Given the description of an element on the screen output the (x, y) to click on. 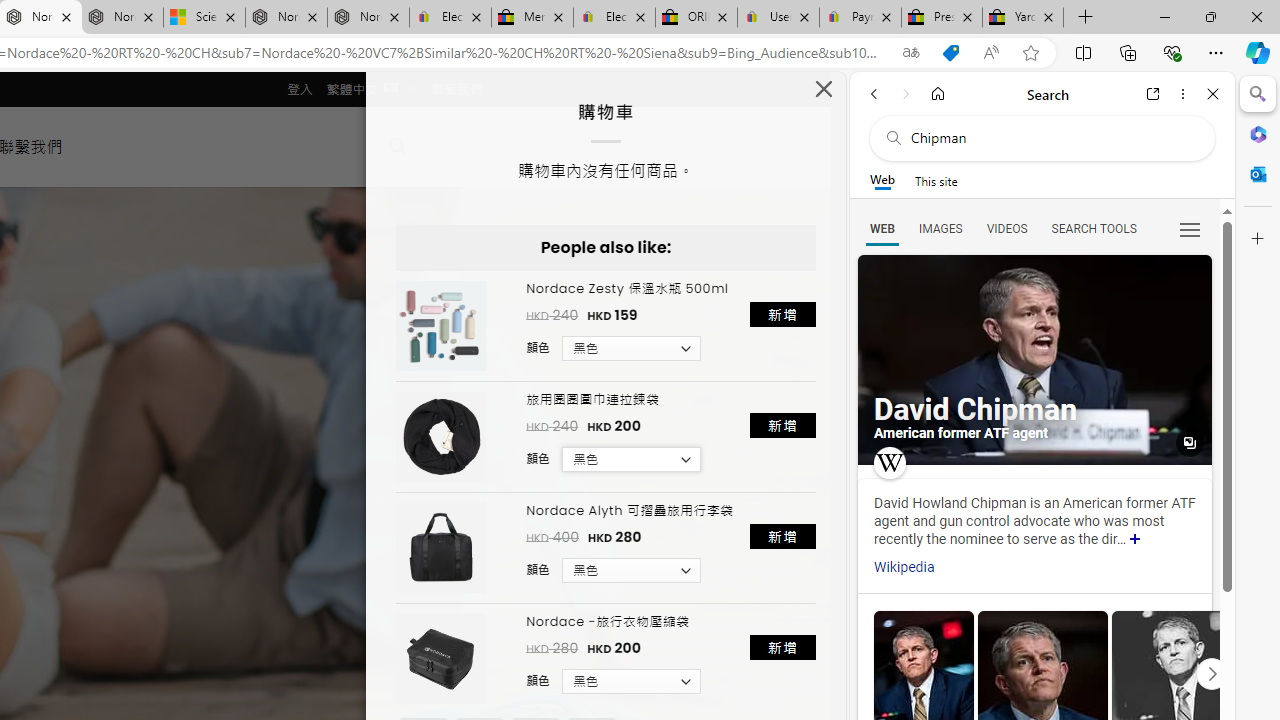
New Tab (1085, 17)
Class: b_serphb (1190, 229)
Home (938, 93)
Show more (1135, 539)
  0   (464, 146)
Settings and more (Alt+F) (1215, 52)
Search Filter, WEB (882, 228)
Browser essentials (1171, 52)
Outlook (1258, 174)
Wikipedia (904, 567)
All images (1190, 443)
